Given the description of an element on the screen output the (x, y) to click on. 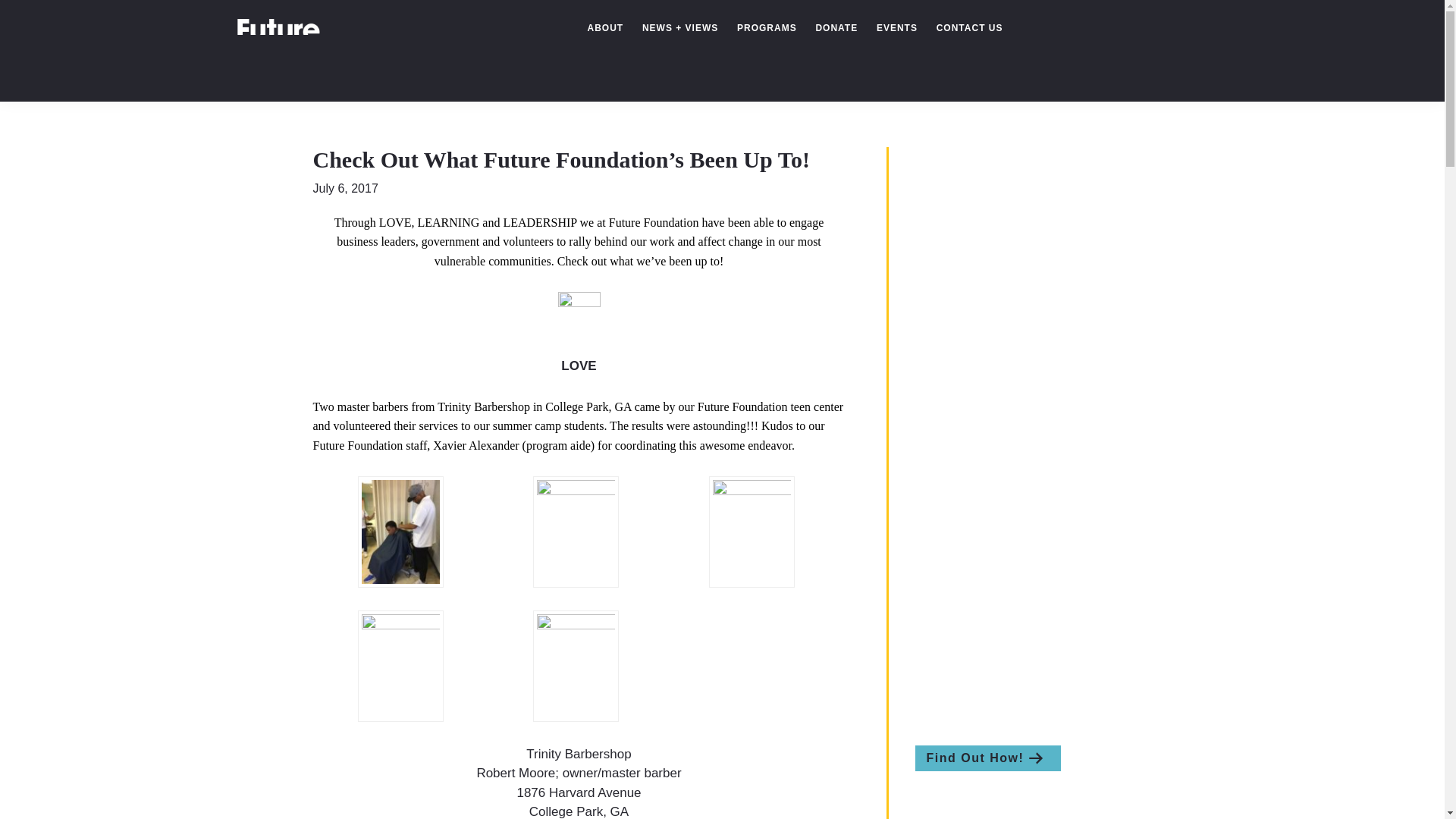
EVENTS (896, 27)
Find Out How! (986, 758)
PROGRAMS (767, 27)
DONATE (836, 27)
CONTACT US (969, 27)
ABOUT (605, 27)
